Given the description of an element on the screen output the (x, y) to click on. 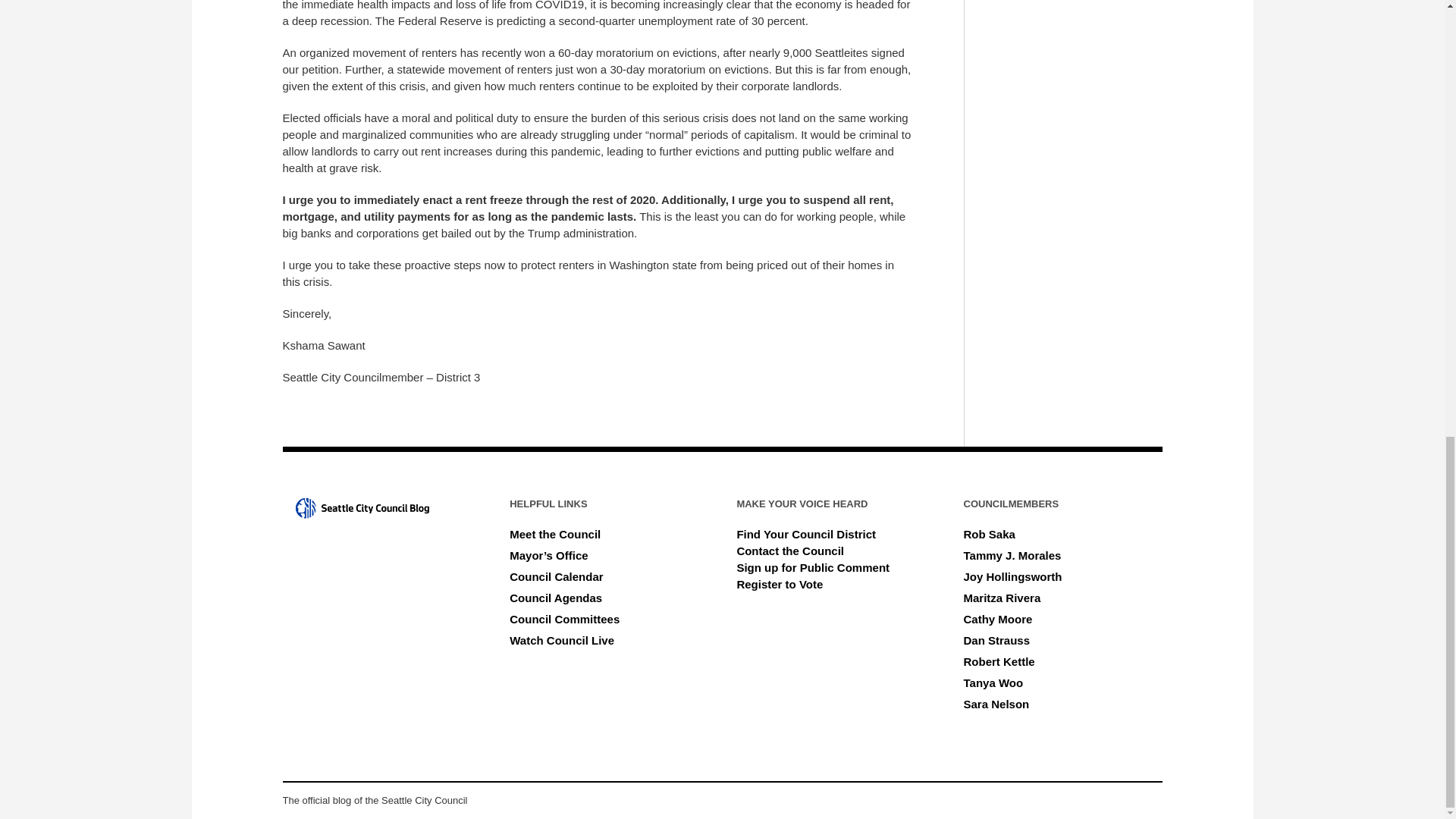
Contact the Council (790, 550)
Find Your Council District (806, 533)
Robert Kettle (999, 661)
Council Calendar (555, 576)
Register to Vote (779, 584)
Joy Hollingsworth (1012, 576)
Council Committees (564, 618)
Sign up for Public Comment (812, 567)
Cathy Moore (997, 618)
Tammy J. Morales (1012, 554)
